Given the description of an element on the screen output the (x, y) to click on. 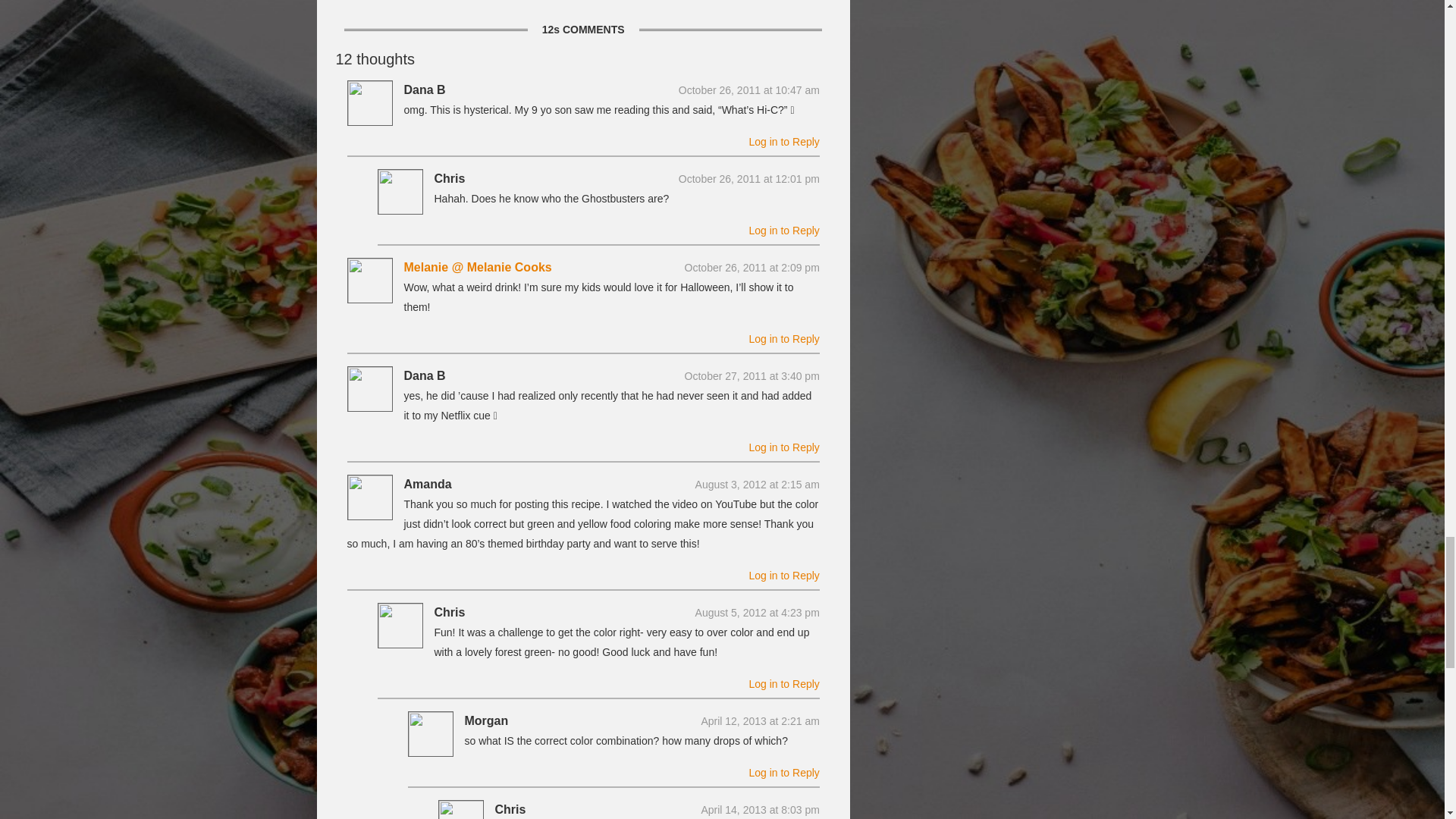
Log in to Reply (783, 141)
Log in to Reply (783, 684)
Log in to Reply (783, 230)
Log in to Reply (783, 338)
Log in to Reply (783, 575)
Log in to Reply (783, 447)
